Given the description of an element on the screen output the (x, y) to click on. 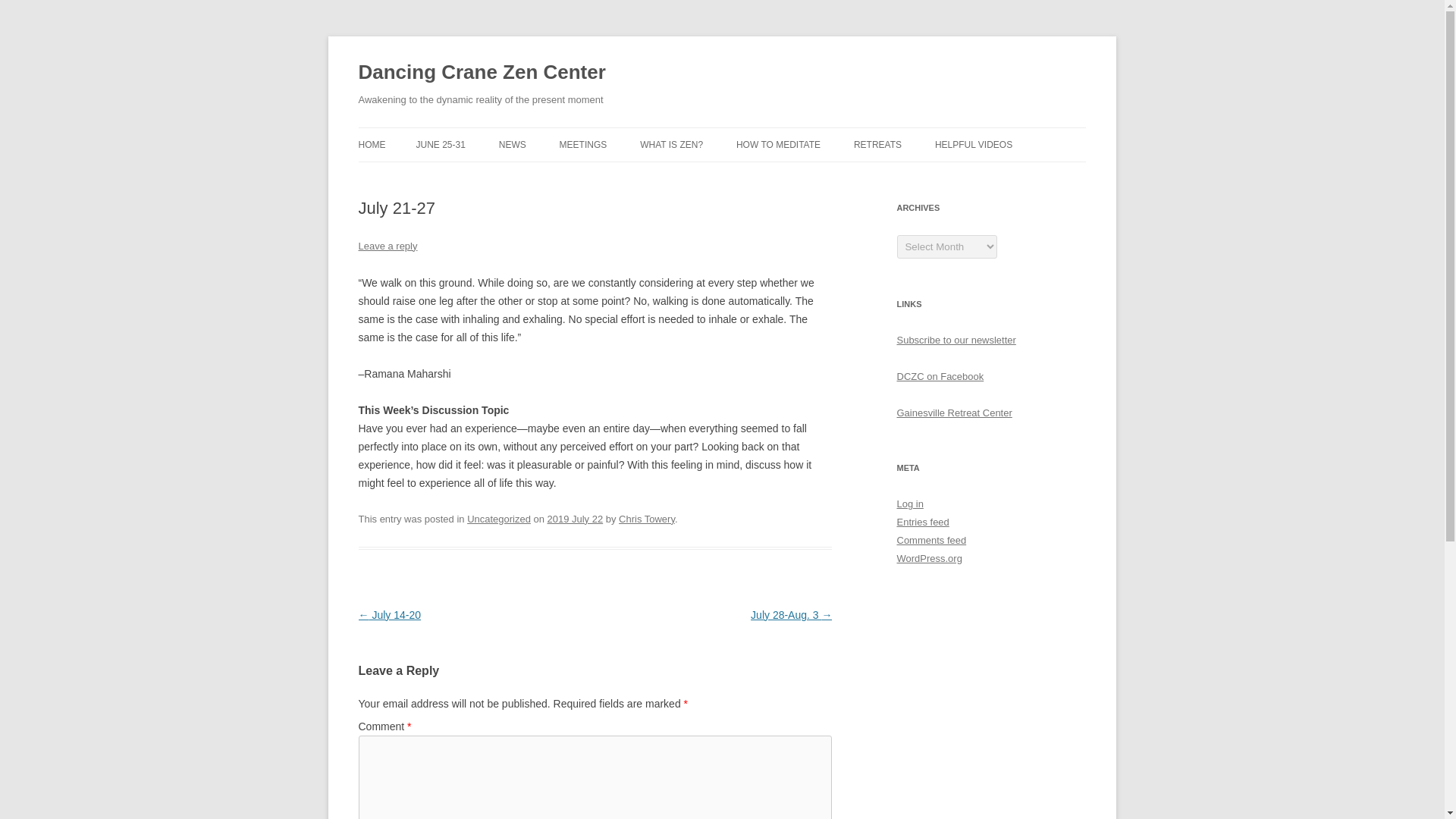
Comments feed (931, 540)
IS ZEN A RELIGION? (716, 176)
21:56 (575, 518)
DCZC on Facebook (940, 376)
HOW TO MEDITATE (778, 144)
MEETINGS (583, 144)
Chris Towery (646, 518)
Leave a reply (387, 245)
Log in (909, 503)
Entries feed (922, 521)
WordPress.org (928, 558)
RETREATS (877, 144)
Subscribe to our newsletter (955, 339)
WHAT IS ZEN? (671, 144)
